Given the description of an element on the screen output the (x, y) to click on. 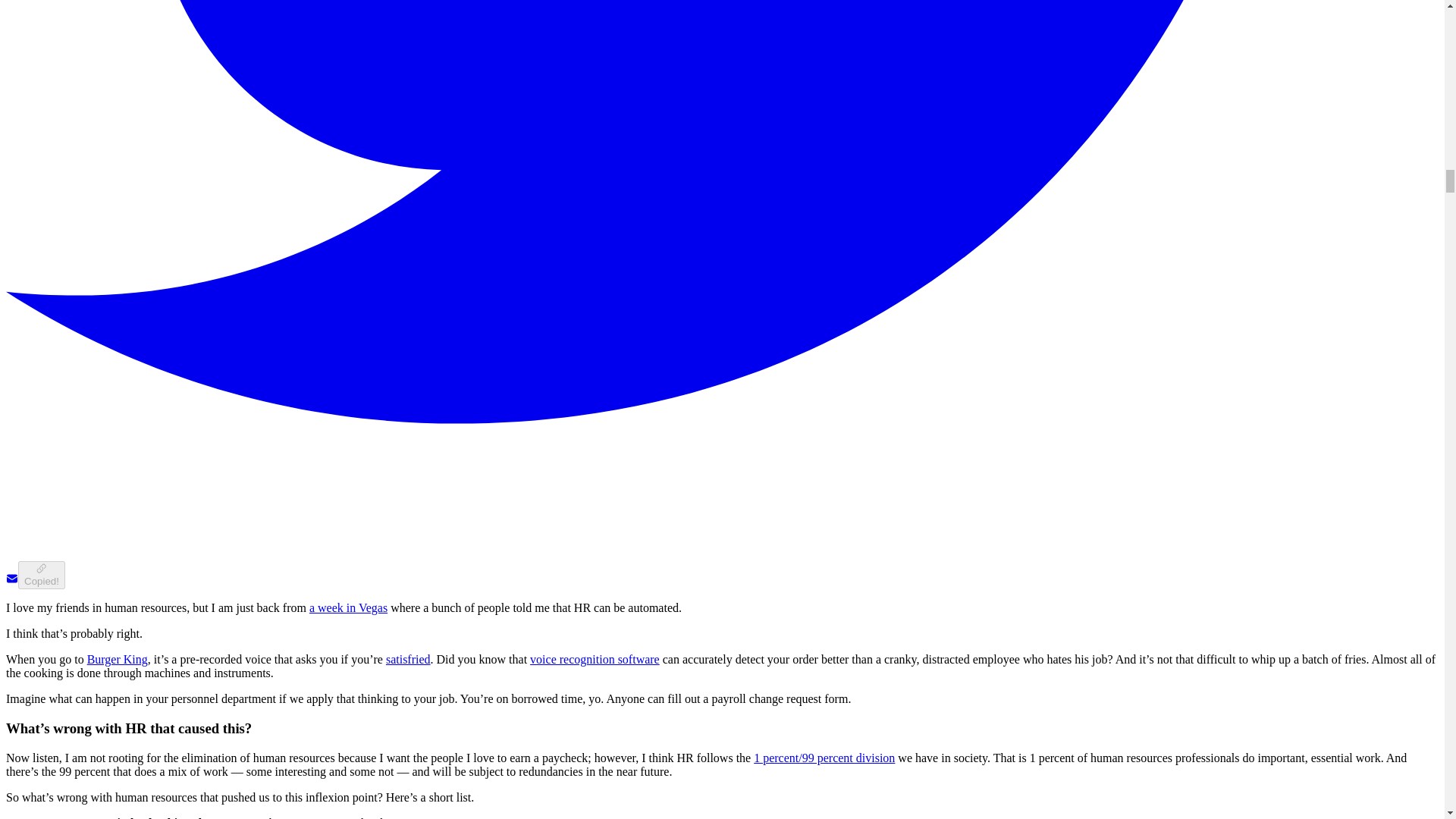
Burger King (117, 658)
voice recognition software (594, 658)
a week in Vegas (347, 607)
satisfried (407, 658)
Copied! (41, 574)
